Given the description of an element on the screen output the (x, y) to click on. 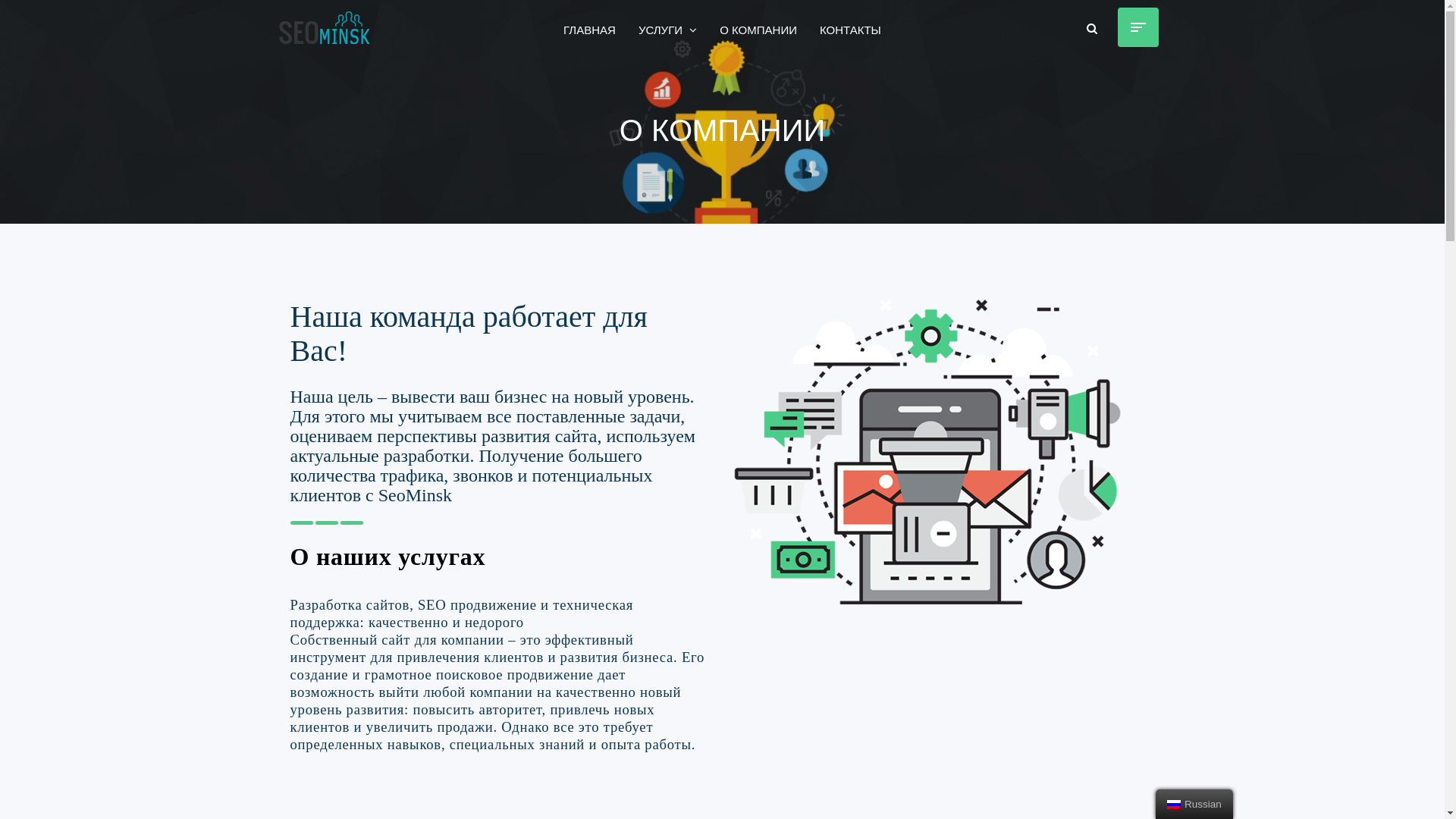
Russian Element type: hover (1173, 804)
